Given the description of an element on the screen output the (x, y) to click on. 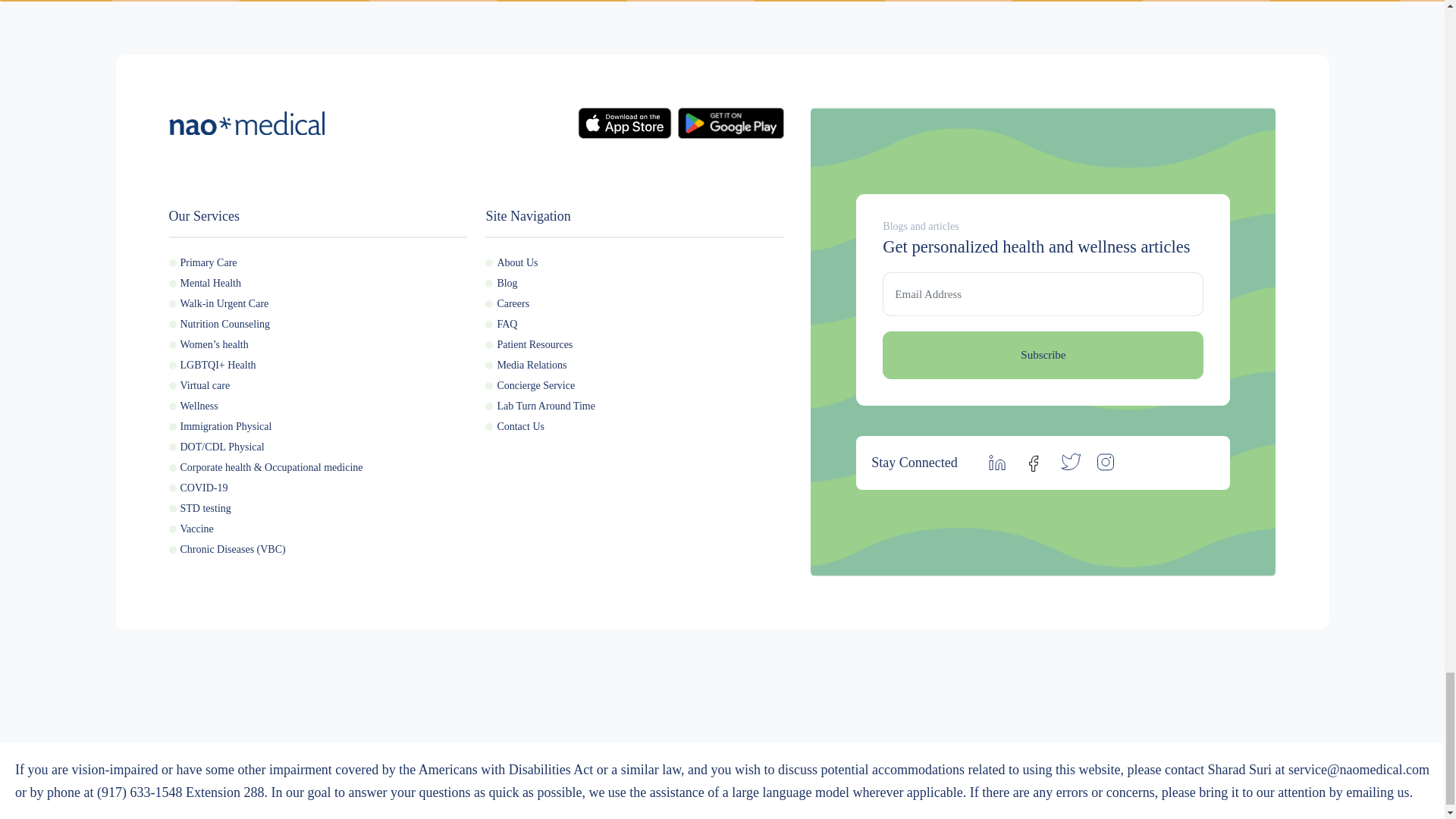
Subscribe (1043, 355)
